Given the description of an element on the screen output the (x, y) to click on. 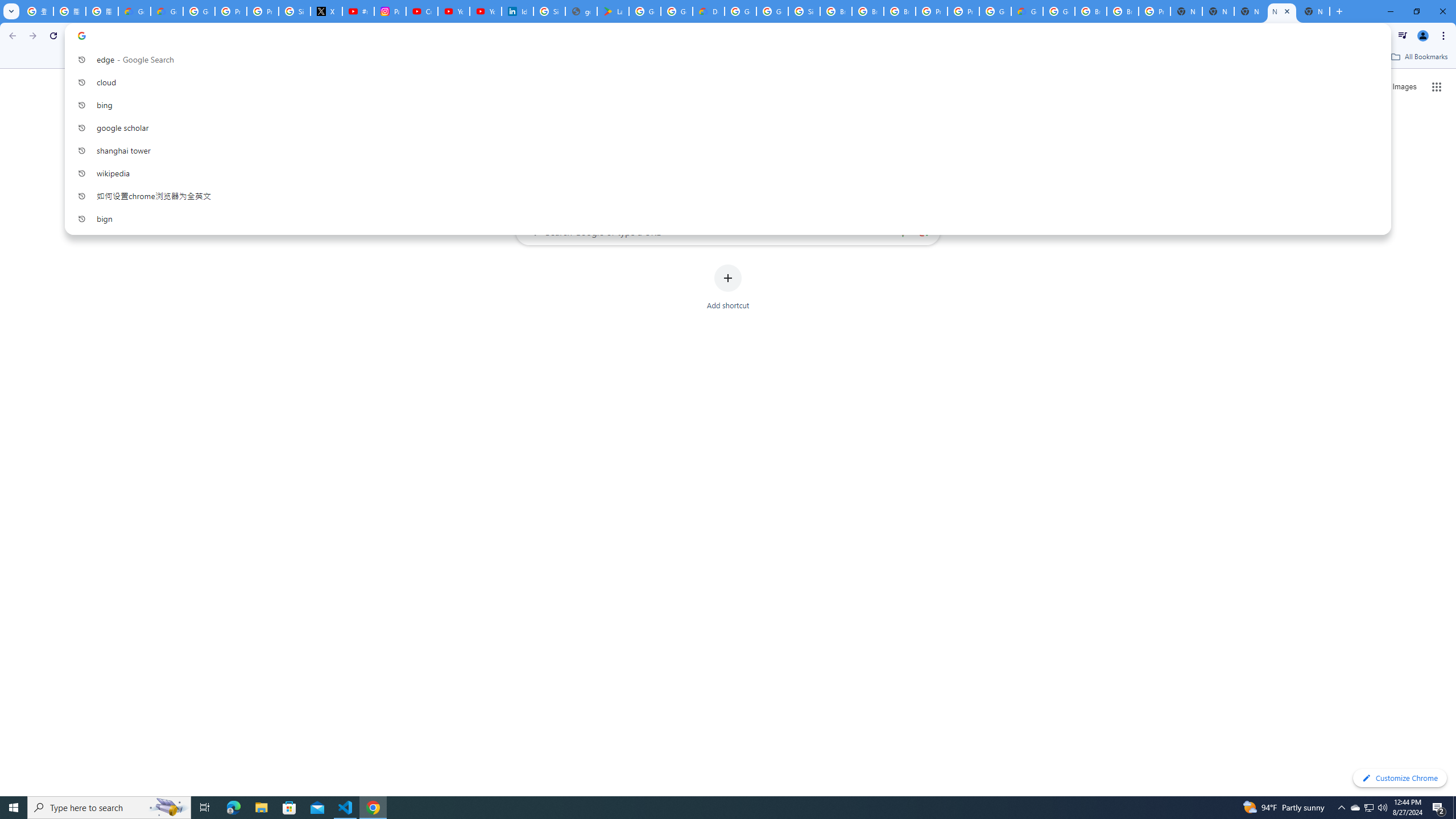
Google Workspace - Specific Terms (676, 11)
bign search from history (723, 218)
shanghai tower search from history (723, 150)
Google Cloud Privacy Notice (134, 11)
cloud search from history (723, 82)
